Given the description of an element on the screen output the (x, y) to click on. 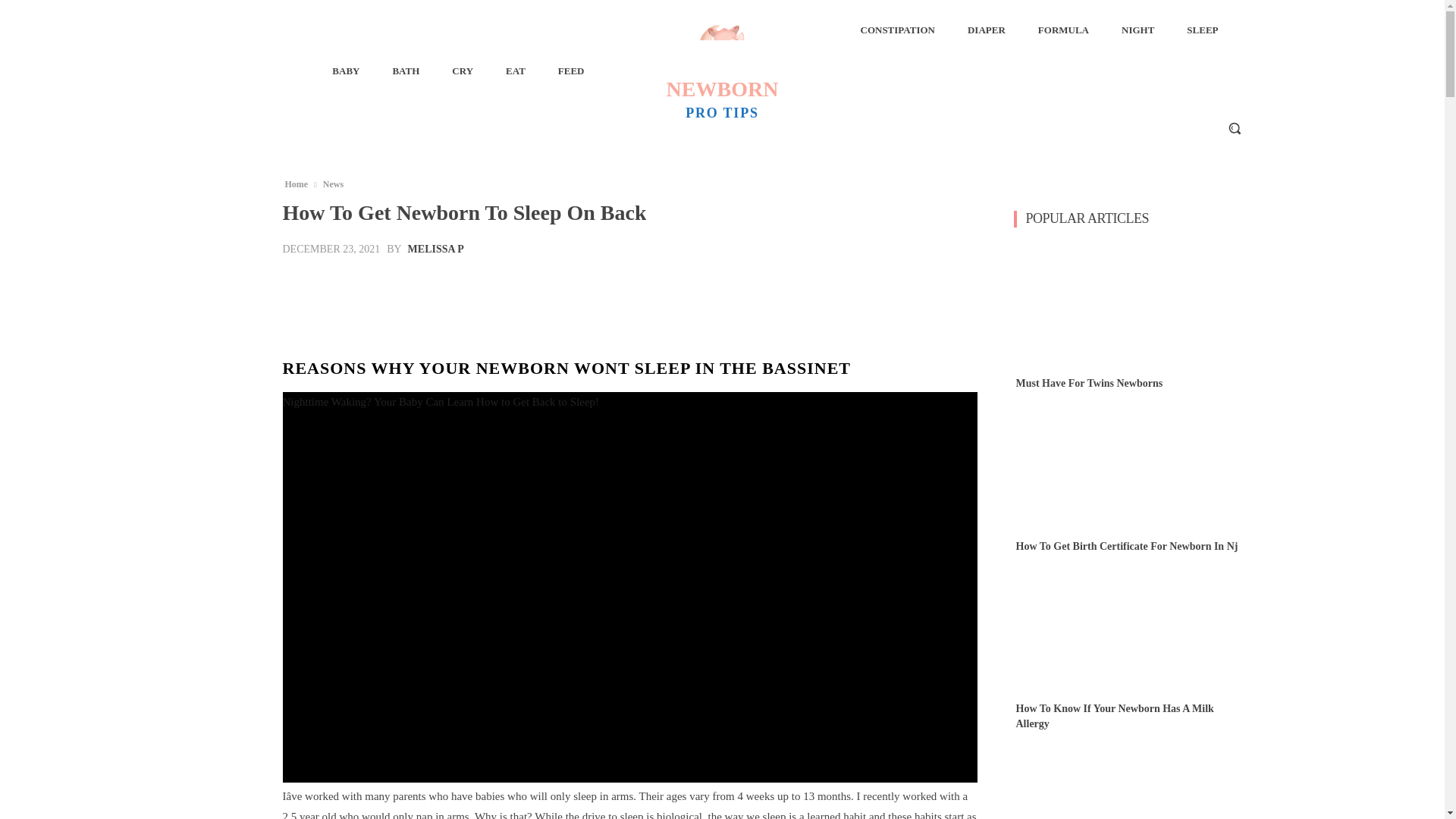
View all posts in News (333, 184)
Home (721, 70)
FORMULA (296, 184)
MELISSA P (1063, 30)
DIAPER (435, 249)
News (986, 30)
CONSTIPATION (333, 184)
